Given the description of an element on the screen output the (x, y) to click on. 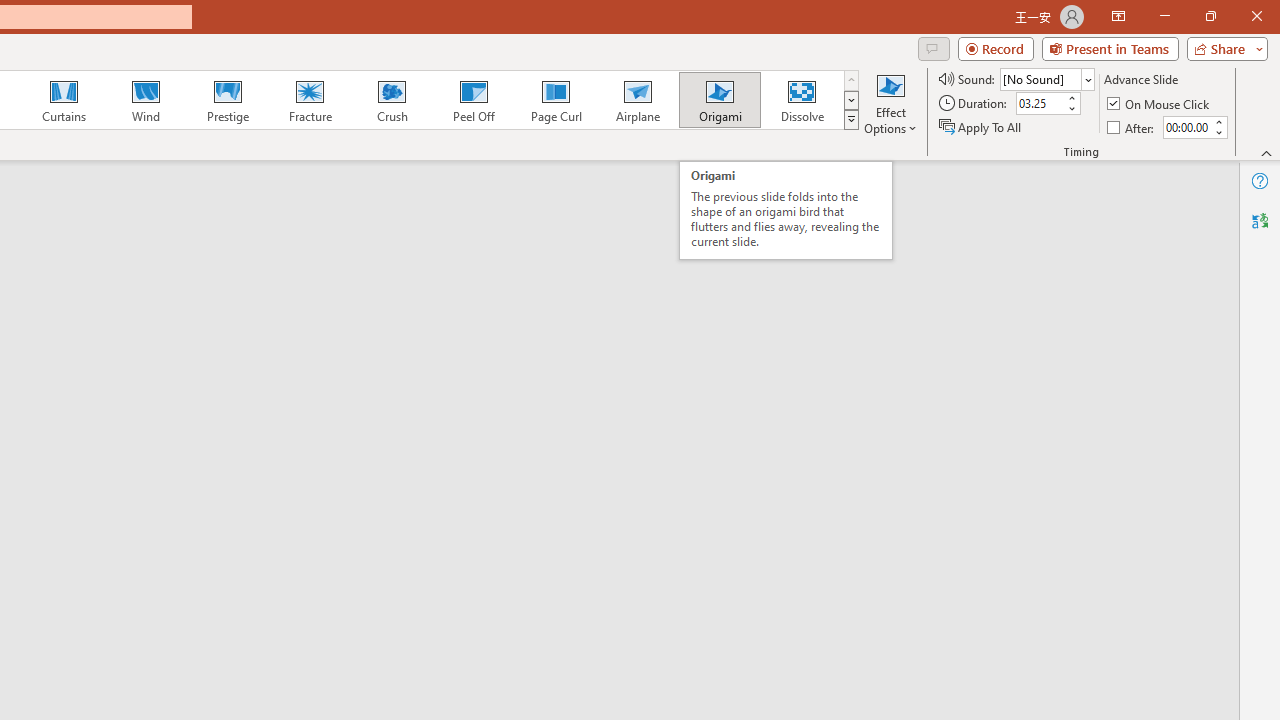
Peel Off (473, 100)
After (1186, 127)
Sound (1046, 78)
Curtains (63, 100)
Apply To All (981, 126)
Duration (1039, 103)
Crush (391, 100)
Dissolve (802, 100)
